Given the description of an element on the screen output the (x, y) to click on. 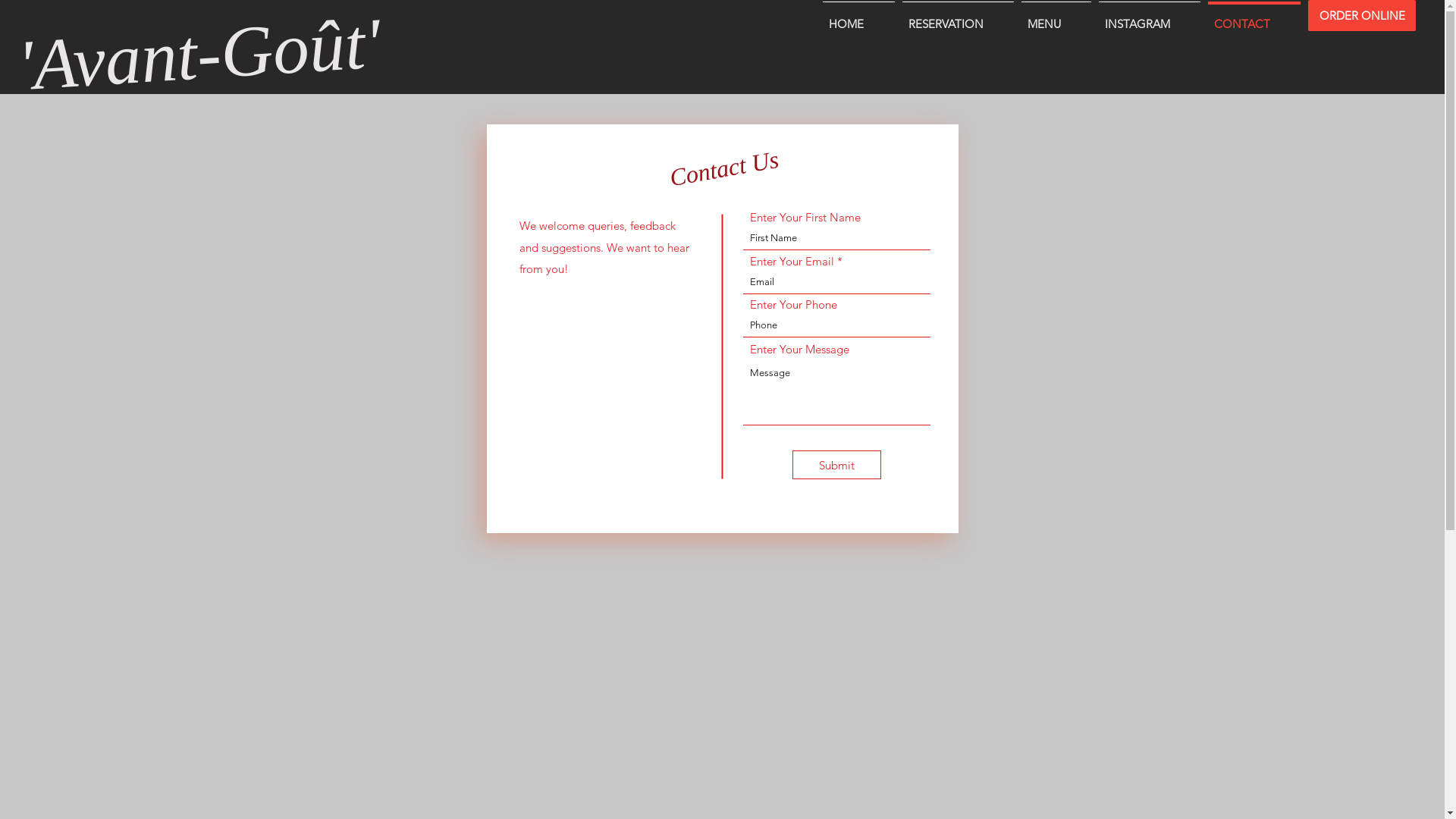
CONTACT Element type: text (1254, 16)
RESERVATION Element type: text (957, 16)
HOME Element type: text (858, 16)
ORDER ONLINE Element type: text (1361, 15)
Submit Element type: text (835, 464)
MENU Element type: text (1056, 16)
INSTAGRAM Element type: text (1149, 16)
